Given the description of an element on the screen output the (x, y) to click on. 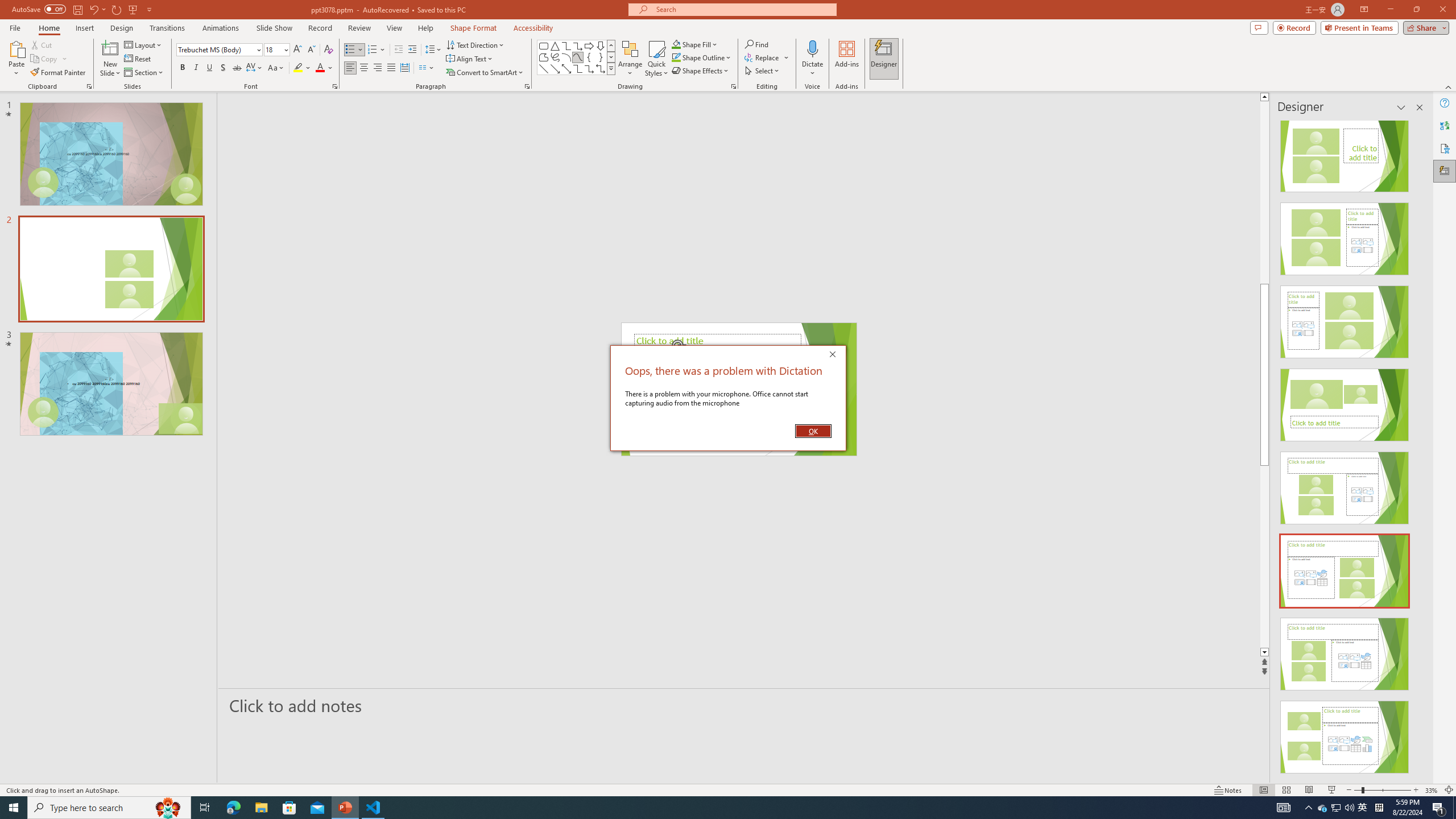
IME Mode Icon - IME is disabled (1362, 807)
